Given the description of an element on the screen output the (x, y) to click on. 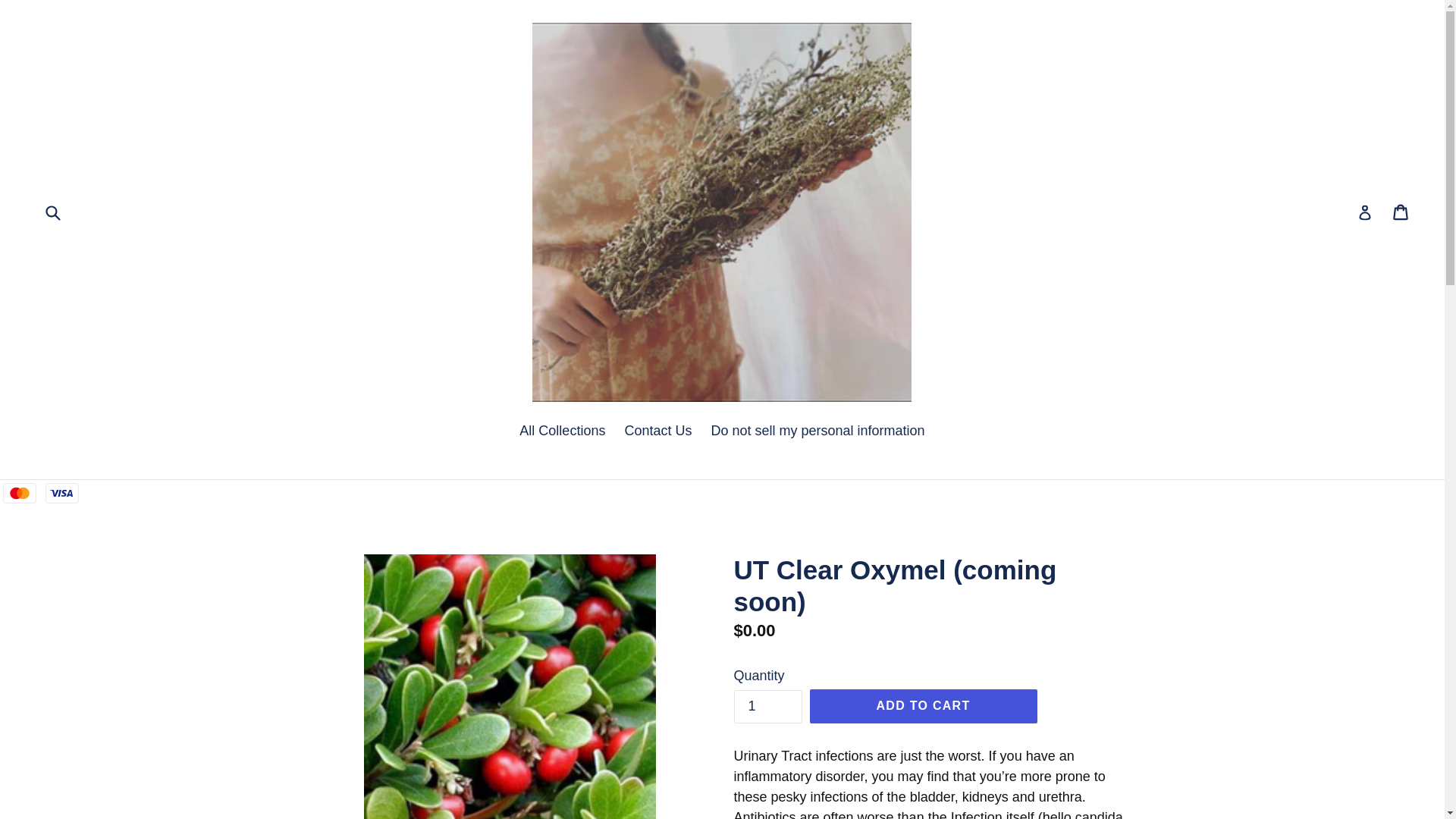
Log in (1364, 211)
Submit (52, 212)
All Collections (562, 431)
ADD TO CART (922, 705)
Contact Us (656, 431)
Do not sell my personal information (817, 431)
1 (1401, 212)
